Given the description of an element on the screen output the (x, y) to click on. 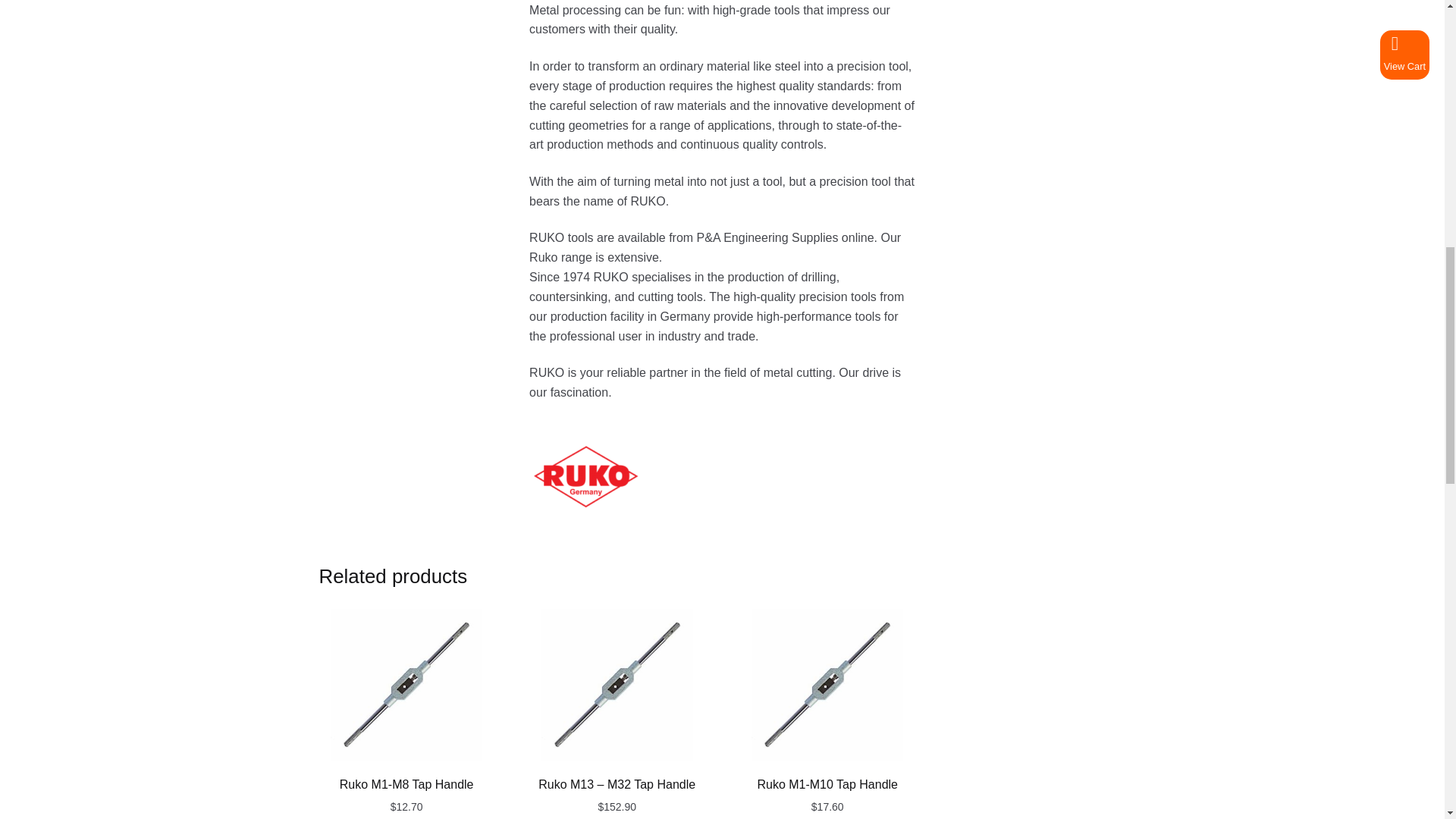
Ruko (722, 476)
